Given the description of an element on the screen output the (x, y) to click on. 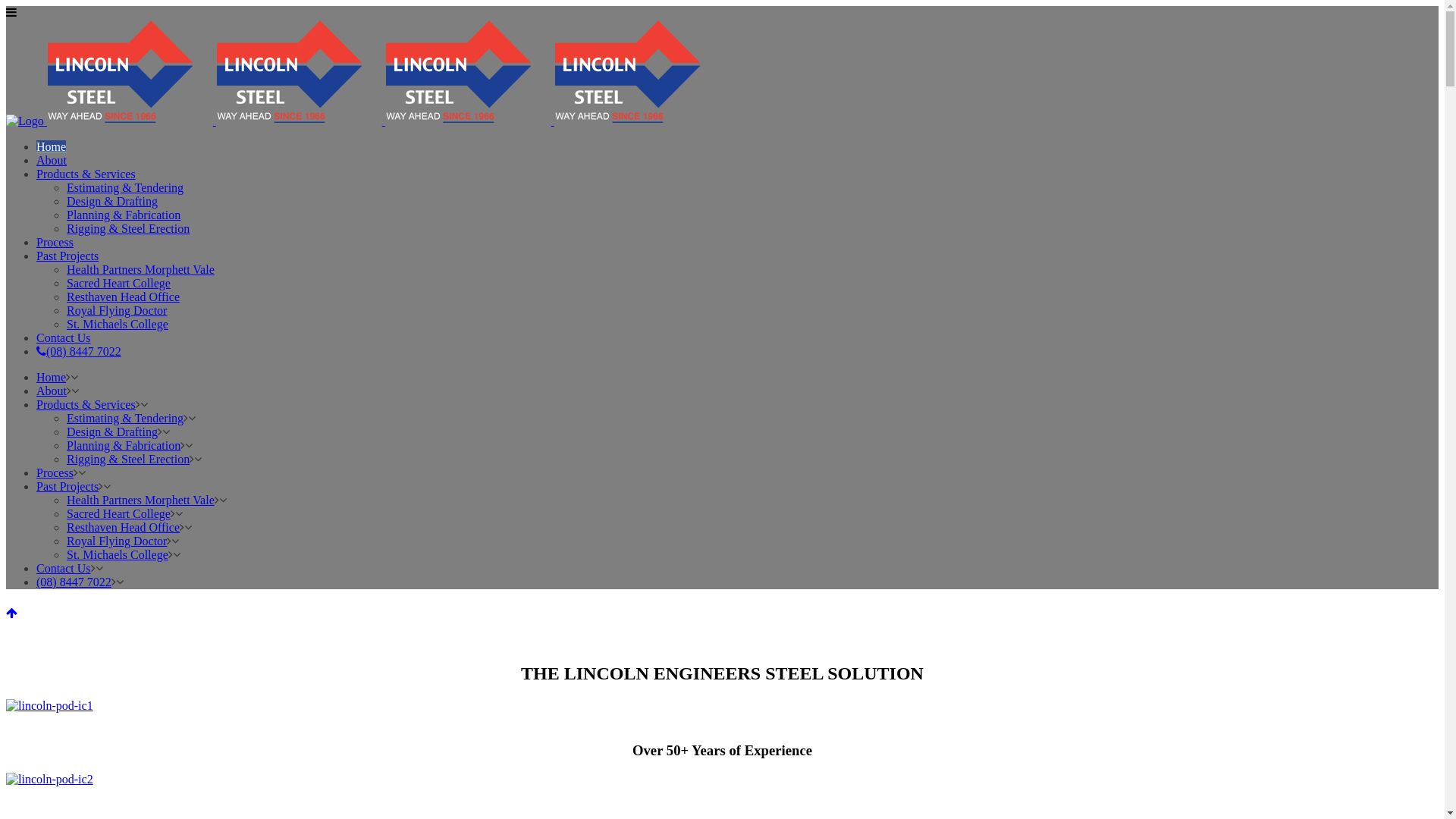
Resthaven Head Office Element type: text (122, 296)
Resthaven Head Office Element type: text (122, 526)
Design & Drafting Element type: text (111, 200)
lincoln-pod-ic2 Element type: hover (49, 779)
Estimating & Tendering Element type: text (124, 187)
Home Element type: text (50, 376)
Products & Services Element type: text (85, 173)
St. Michaels College Element type: text (117, 323)
(08) 8447 7022 Element type: text (73, 581)
Past Projects Element type: text (67, 486)
Health Partners Morphett Vale Element type: text (140, 499)
Process Element type: text (54, 241)
Design & Drafting Element type: text (111, 431)
lincoln-pod-ic1 Element type: hover (49, 705)
St. Michaels College Element type: text (117, 554)
Past Projects Element type: text (67, 255)
Health Partners Morphett Vale Element type: text (140, 269)
Planning & Fabrication Element type: text (123, 445)
Planning & Fabrication Element type: text (123, 214)
(08) 8447 7022 Element type: text (78, 351)
About Element type: text (51, 159)
Products & Services Element type: text (85, 404)
Royal Flying Doctor Element type: text (116, 310)
About Element type: text (51, 390)
Estimating & Tendering Element type: text (124, 417)
Rigging & Steel Erection Element type: text (127, 458)
Rigging & Steel Erection Element type: text (127, 228)
Sacred Heart College Element type: text (118, 282)
Home Element type: text (50, 146)
Sacred Heart College Element type: text (118, 513)
Royal Flying Doctor Element type: text (116, 540)
Contact Us Element type: text (63, 567)
Process Element type: text (54, 472)
Contact Us Element type: text (63, 337)
